Given the description of an element on the screen output the (x, y) to click on. 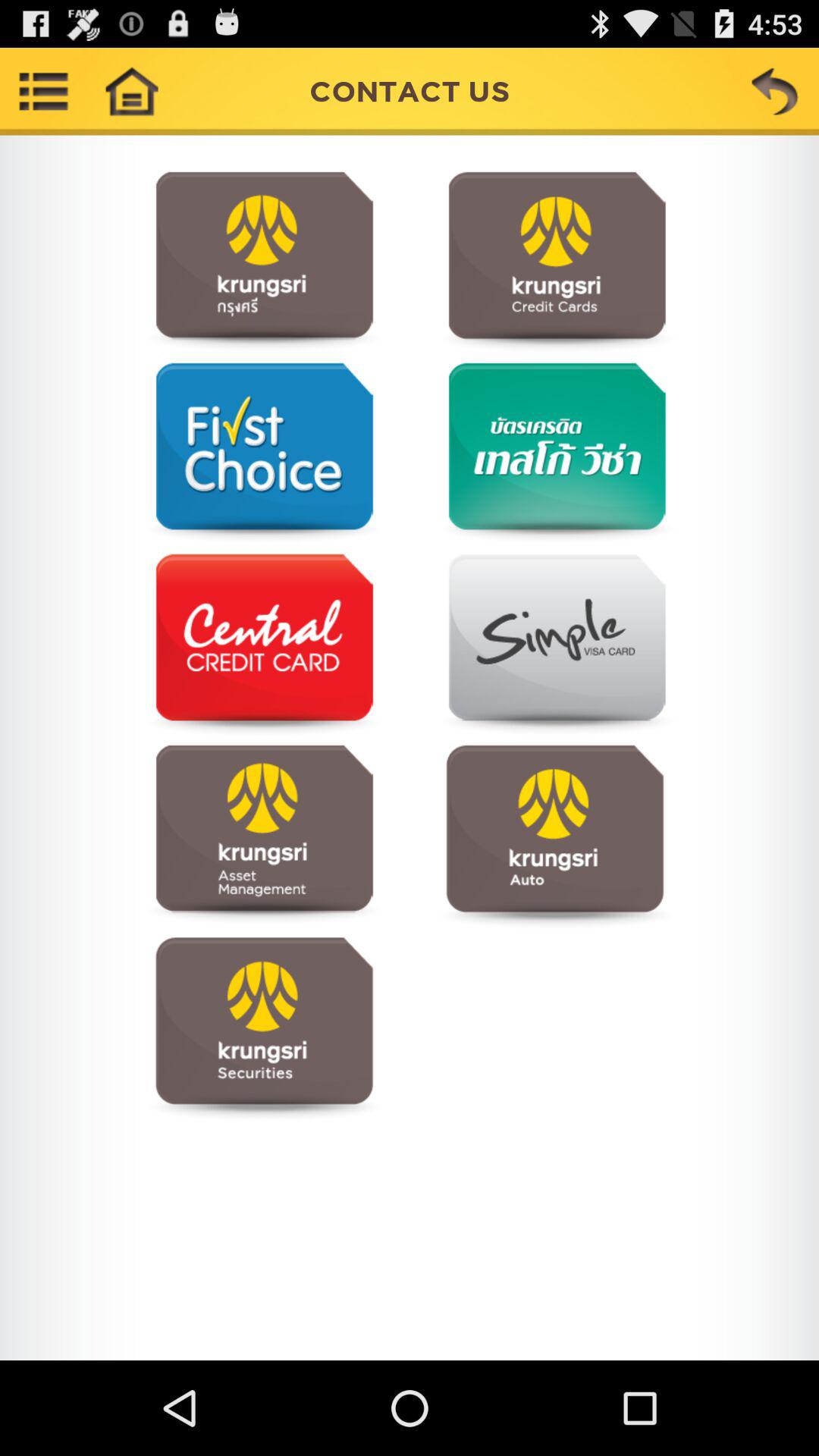
tap the item at the bottom left corner (263, 1026)
